Given the description of an element on the screen output the (x, y) to click on. 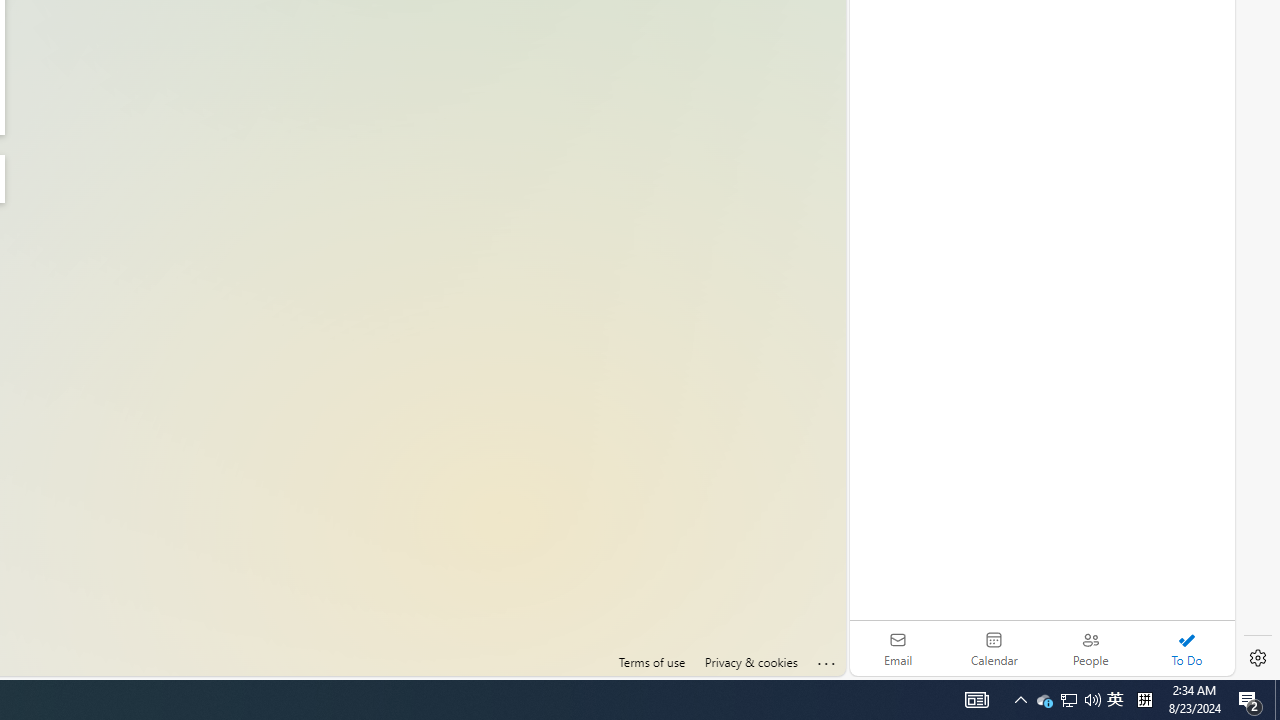
Calendar. Date today is 22 (994, 648)
Terms of use (652, 662)
Privacy & cookies (750, 662)
To Do (1186, 648)
Click here for troubleshooting information (827, 659)
Email (898, 648)
People (1090, 648)
